Given the description of an element on the screen output the (x, y) to click on. 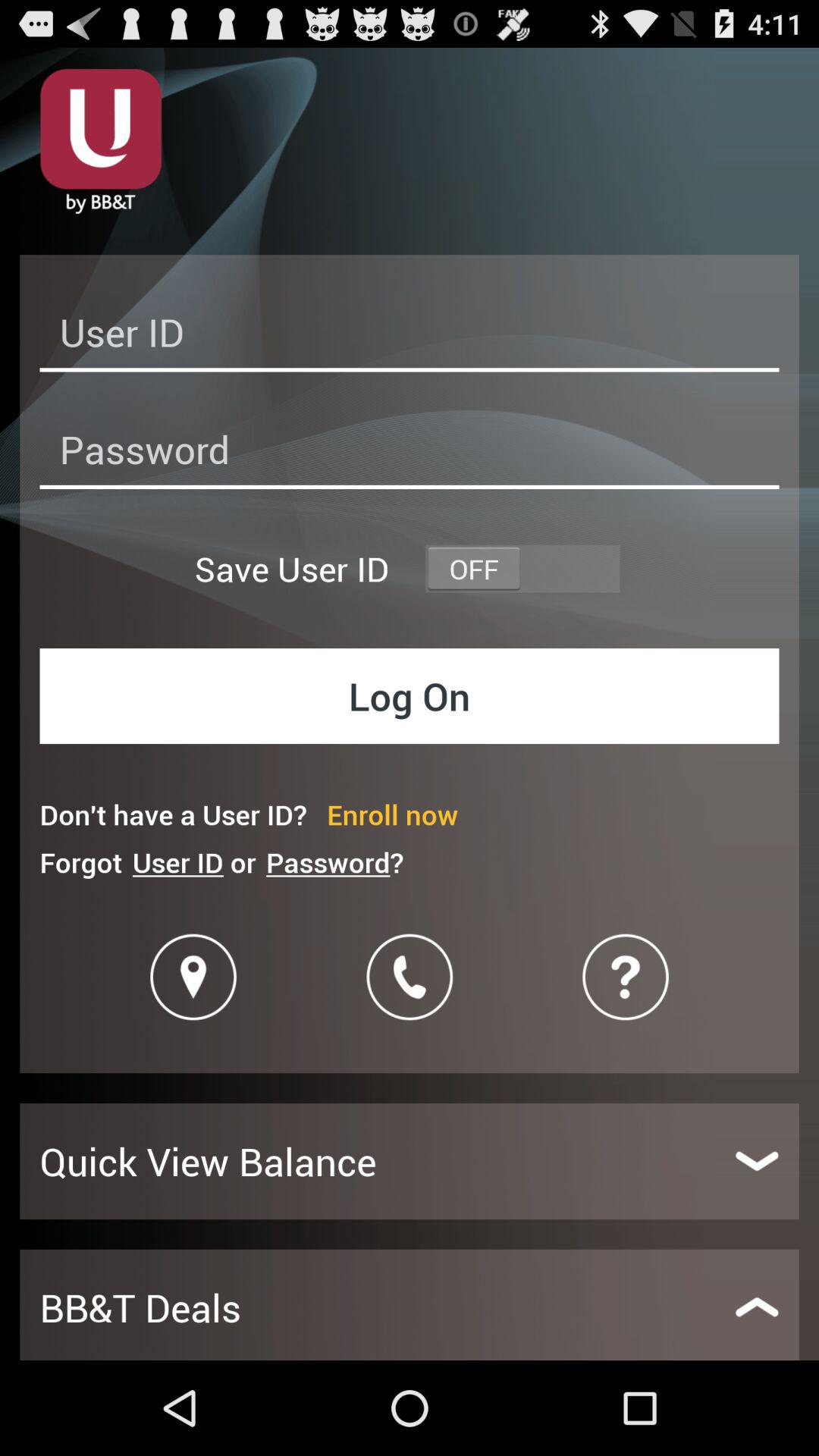
turn on the item below save user id icon (409, 695)
